Given the description of an element on the screen output the (x, y) to click on. 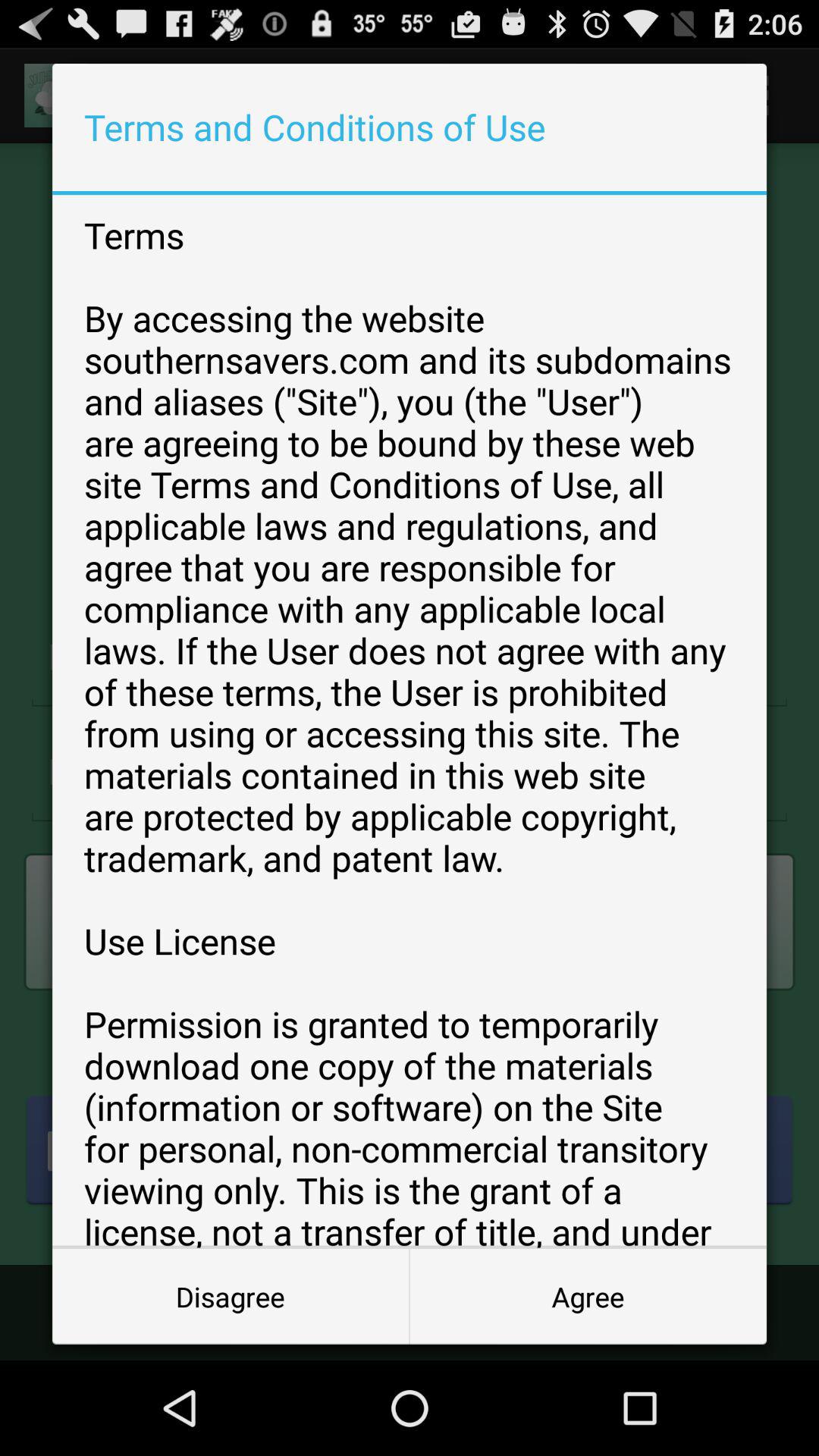
open the item below terms by accessing icon (230, 1296)
